Given the description of an element on the screen output the (x, y) to click on. 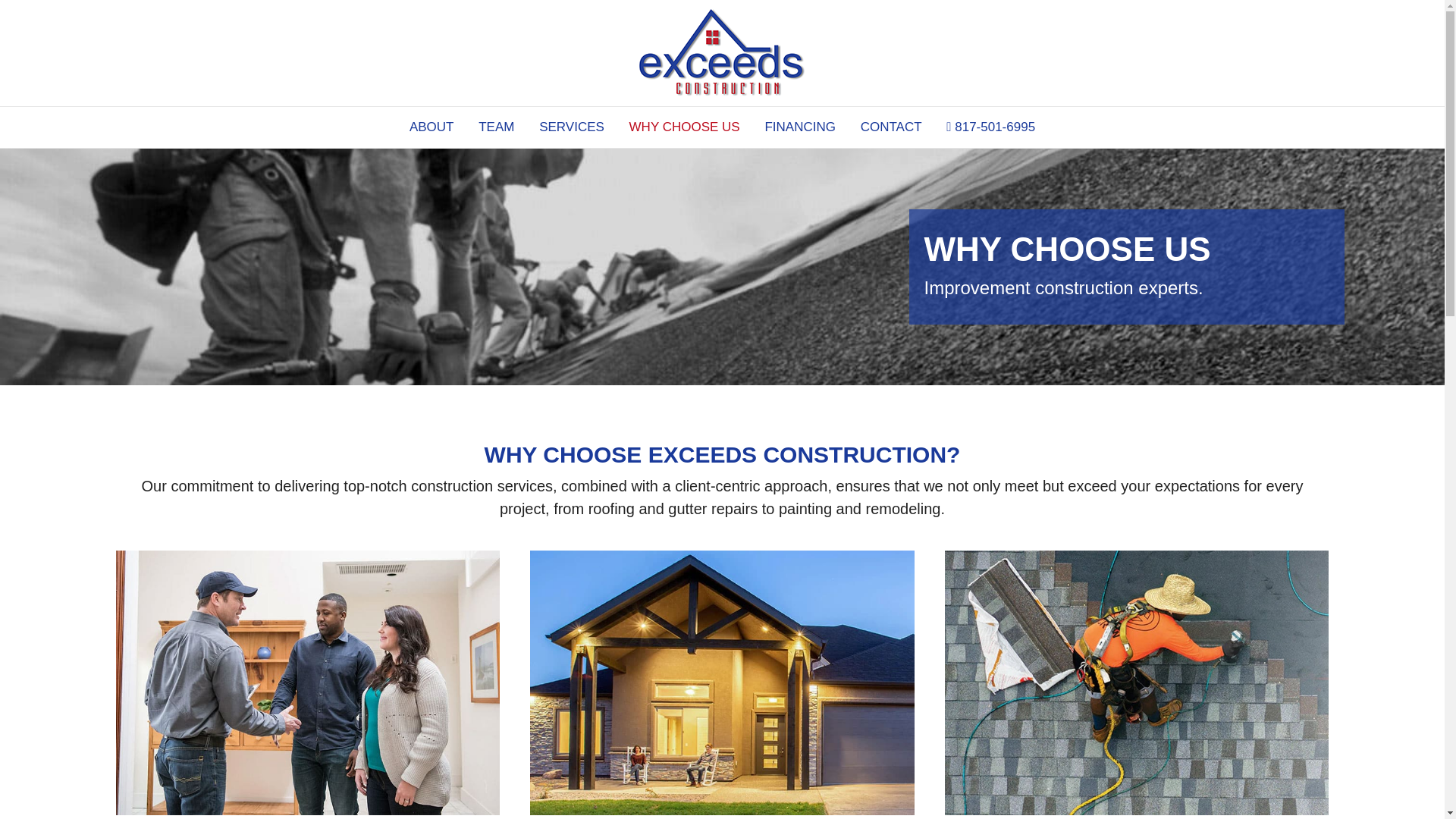
support-contractor (307, 682)
TEAM (495, 127)
roofing-shingles-home (1136, 682)
WHY CHOOSE US (684, 127)
ABOUT (431, 127)
CONTACT (891, 127)
SERVICES (571, 127)
homeowners (721, 682)
817-501-6995 (990, 127)
FINANCING (799, 127)
